Given the description of an element on the screen output the (x, y) to click on. 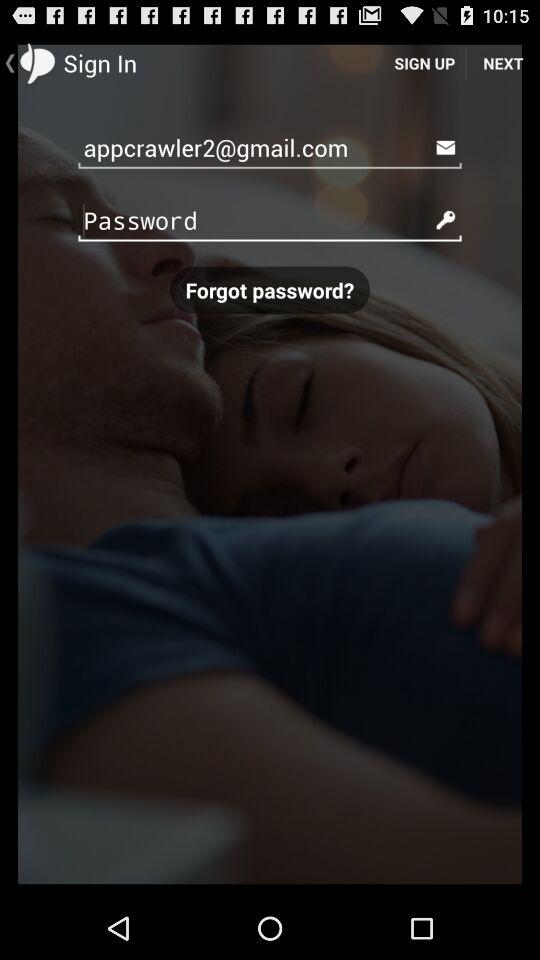
press item above appcrawler2@gmail.com (503, 62)
